Given the description of an element on the screen output the (x, y) to click on. 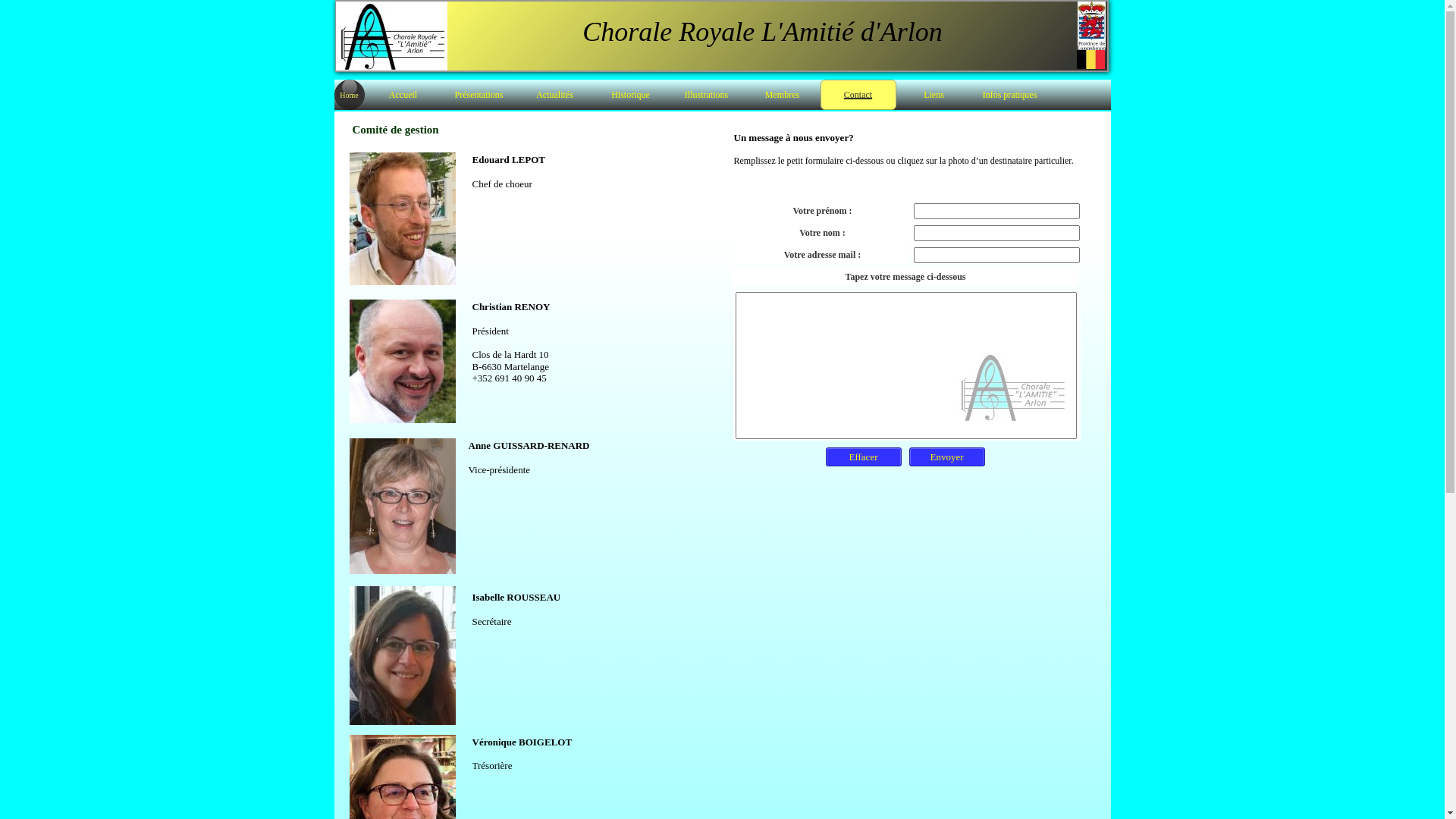
Home Element type: text (348, 94)
Accueil Element type: text (403, 94)
Illustrations Element type: text (706, 94)
Membres Element type: text (782, 94)
Envoyer Element type: text (946, 455)
Infos pratiques Element type: text (1010, 94)
Liens Element type: text (934, 94)
Liens Element type: text (933, 94)
Historique Element type: text (630, 94)
Membres Element type: text (782, 94)
Accueil Element type: text (403, 94)
  Element type: text (334, 6)
Home Element type: text (348, 95)
Effacer Element type: text (862, 456)
Illustrations Element type: text (706, 94)
Effacer Element type: text (862, 455)
Contact Element type: text (858, 94)
Contact Element type: text (858, 94)
Envoyer Element type: text (946, 456)
Historique Element type: text (630, 94)
Infos pratiques Element type: text (1009, 94)
